Given the description of an element on the screen output the (x, y) to click on. 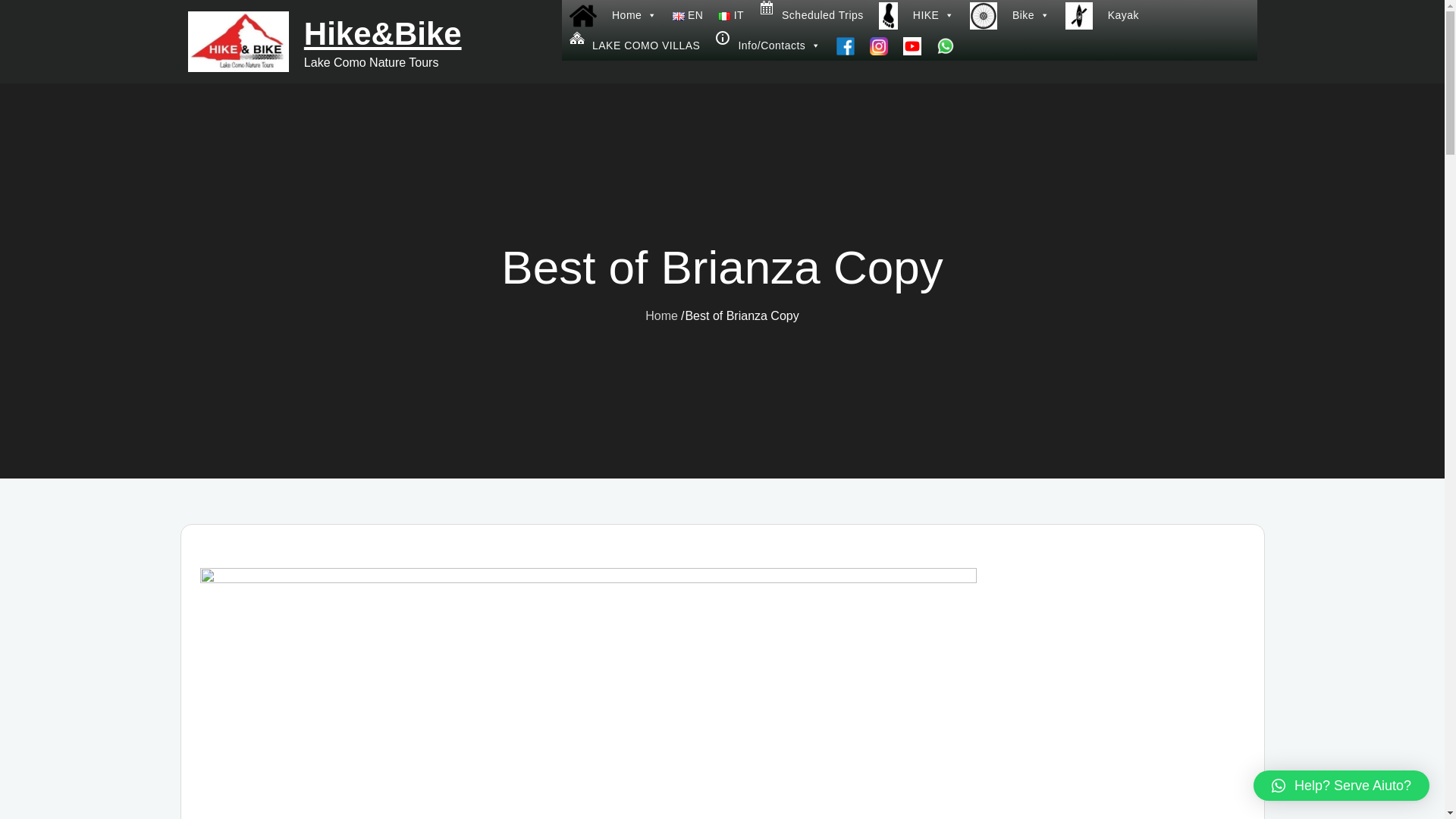
LAKE COMO VILLAS (634, 45)
Scheduled Trips (810, 15)
Kayak (1102, 15)
EN (688, 15)
Home (661, 315)
Home (613, 15)
IT (730, 15)
HIKE (916, 15)
Bike (1010, 15)
